Given the description of an element on the screen output the (x, y) to click on. 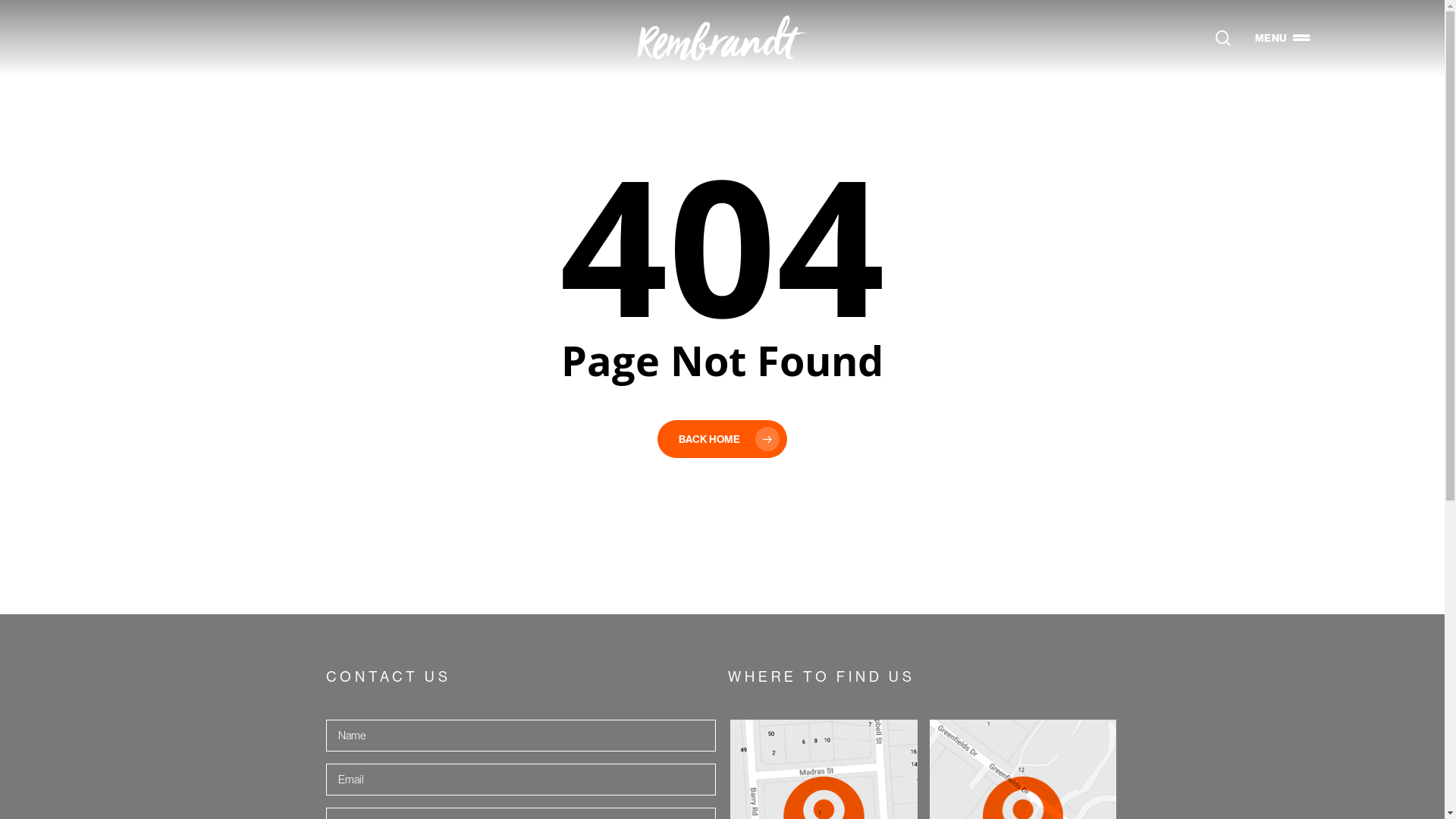
search Element type: text (1223, 38)
BACK HOME Element type: text (722, 439)
MENU Element type: text (1280, 37)
